Given the description of an element on the screen output the (x, y) to click on. 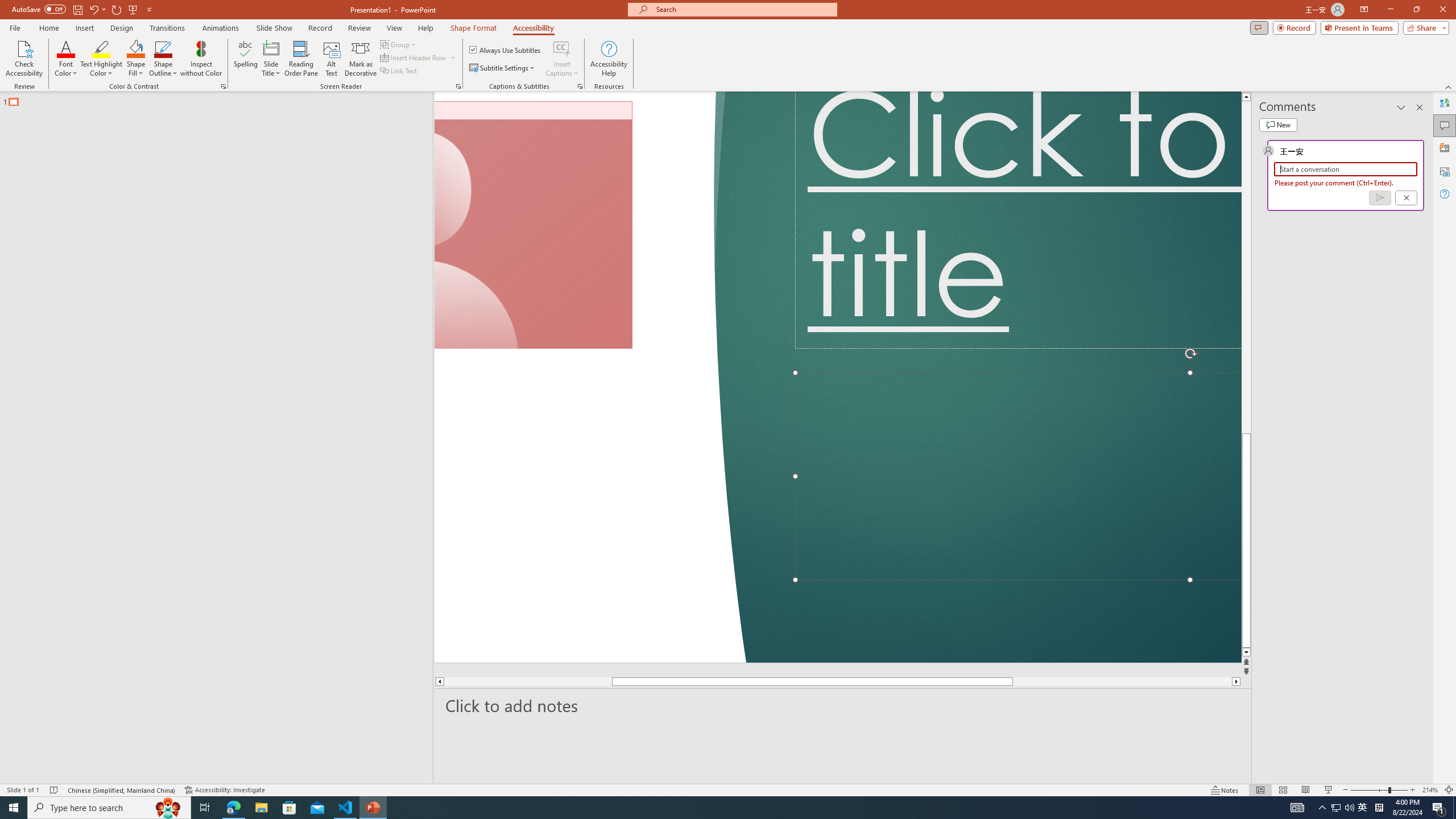
Insert Captions (561, 48)
Translator (1444, 102)
Check Accessibility (23, 58)
Decorative Locked (589, 376)
Mark as Decorative (360, 58)
